Given the description of an element on the screen output the (x, y) to click on. 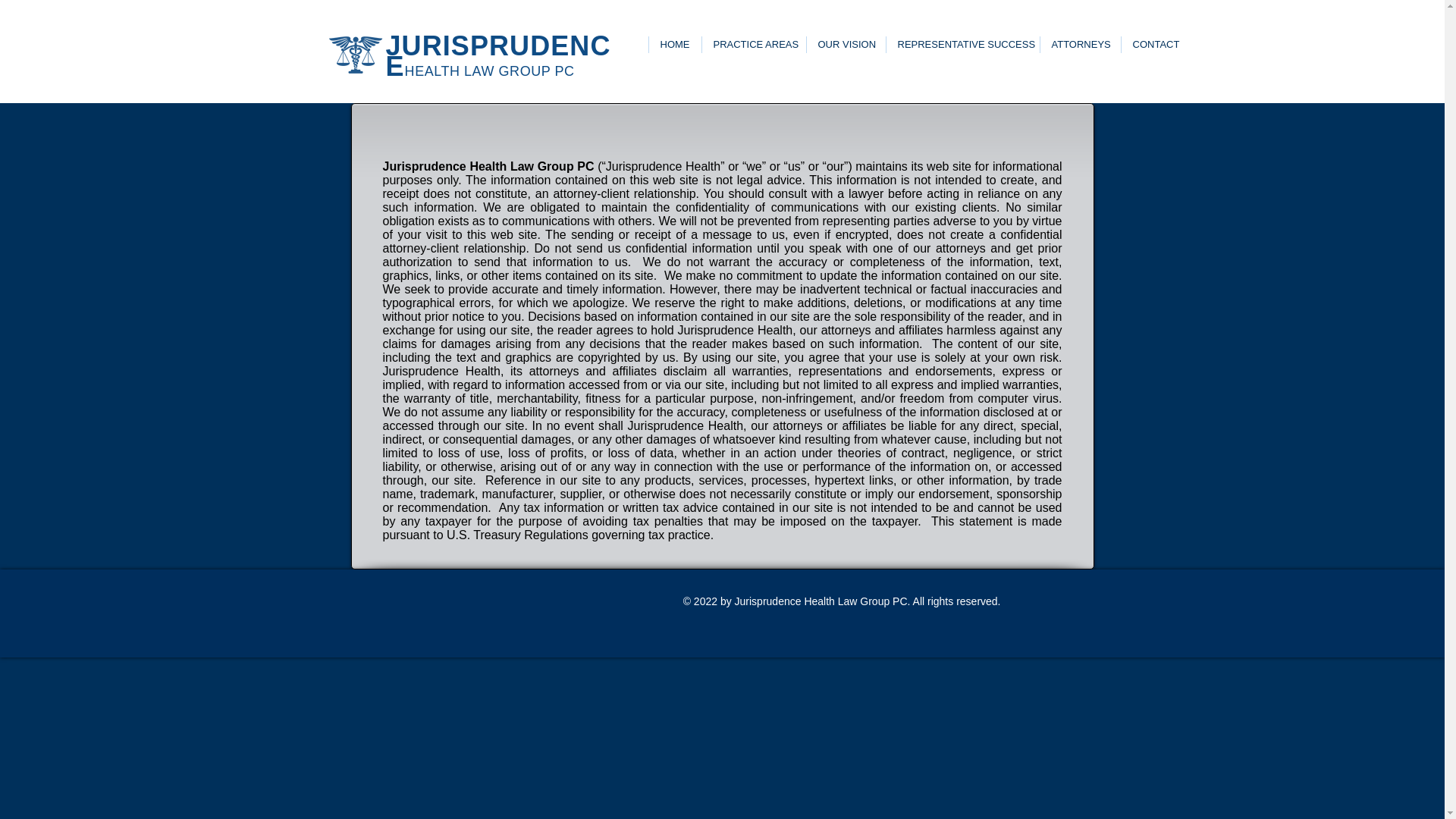
REPRESENTATIVE SUCCESS (962, 44)
JURISPRUDENCE (497, 55)
PRACTICE AREAS (752, 44)
HEALTH LAW GROUP PC (489, 70)
HOME (673, 44)
ATTORNEYS (1079, 44)
CONTACT (1156, 44)
OUR VISION (845, 44)
